Given the description of an element on the screen output the (x, y) to click on. 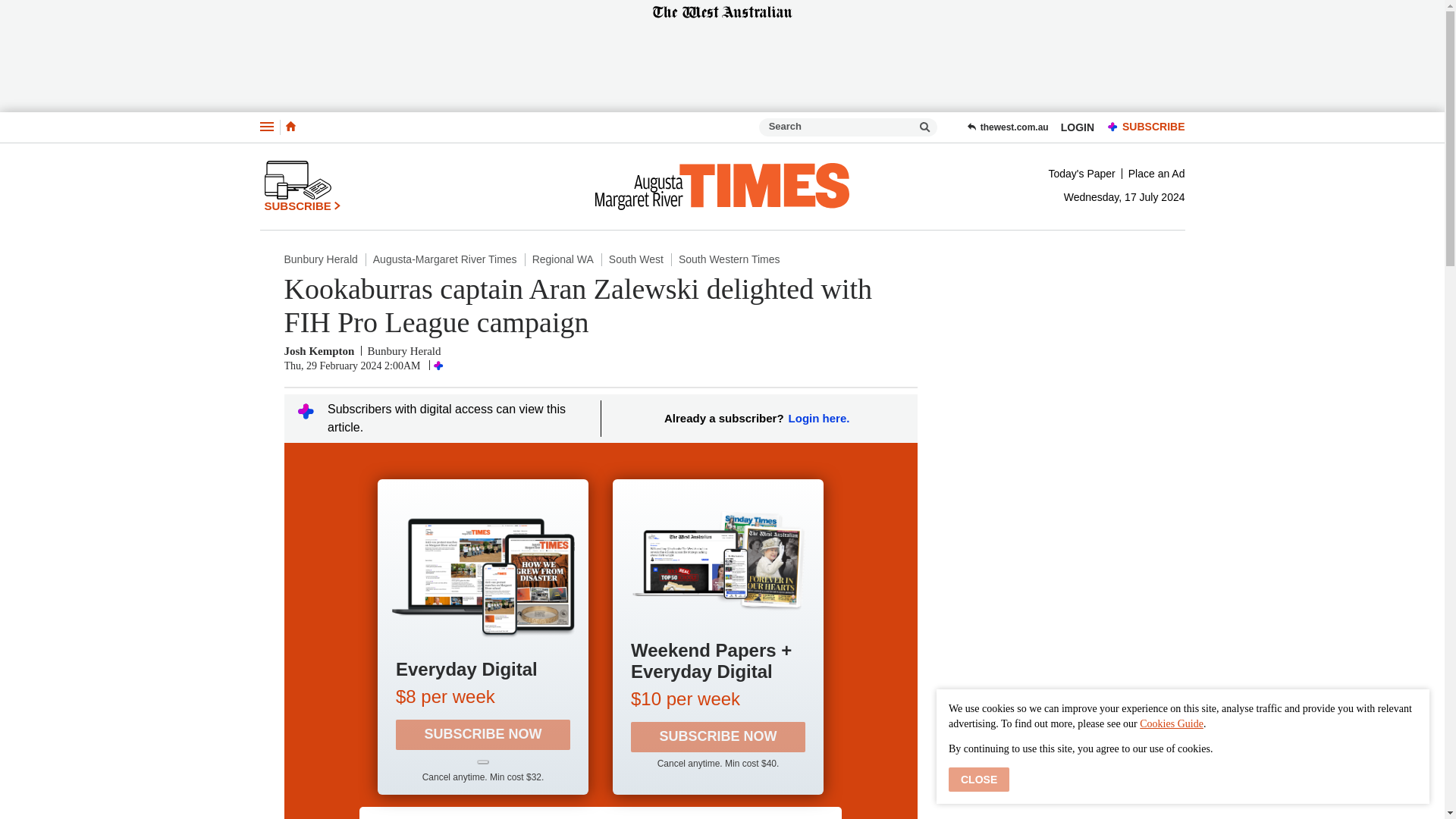
PREMIUM (1112, 126)
thewest.com.au (1007, 127)
CHEVRON RIGHT ICON (337, 205)
LOGIN (1077, 127)
PREMIUMSUBSCRIBE (1142, 127)
Please enter a search term. (924, 127)
Menu (266, 126)
Home (290, 126)
SUBSCRIBE CHEVRON RIGHT ICON (302, 185)
Home (290, 126)
